Given the description of an element on the screen output the (x, y) to click on. 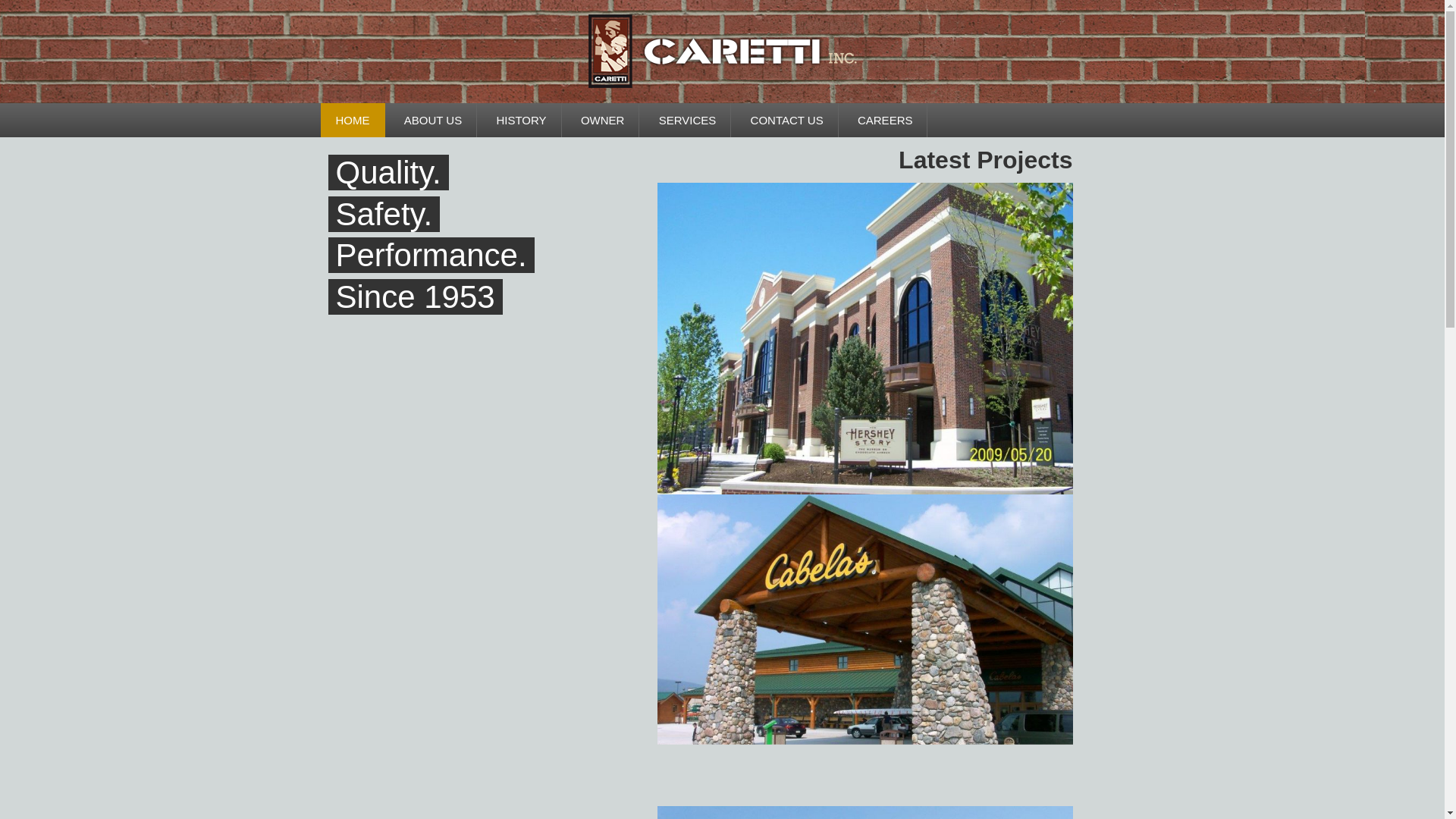
OWNER (603, 120)
SERVICES (687, 120)
TRADING AREAS (464, 154)
CAREERS (885, 120)
HISTORY (520, 120)
CONTACT US (786, 120)
HOME (352, 120)
ABOUT US (432, 120)
